Given the description of an element on the screen output the (x, y) to click on. 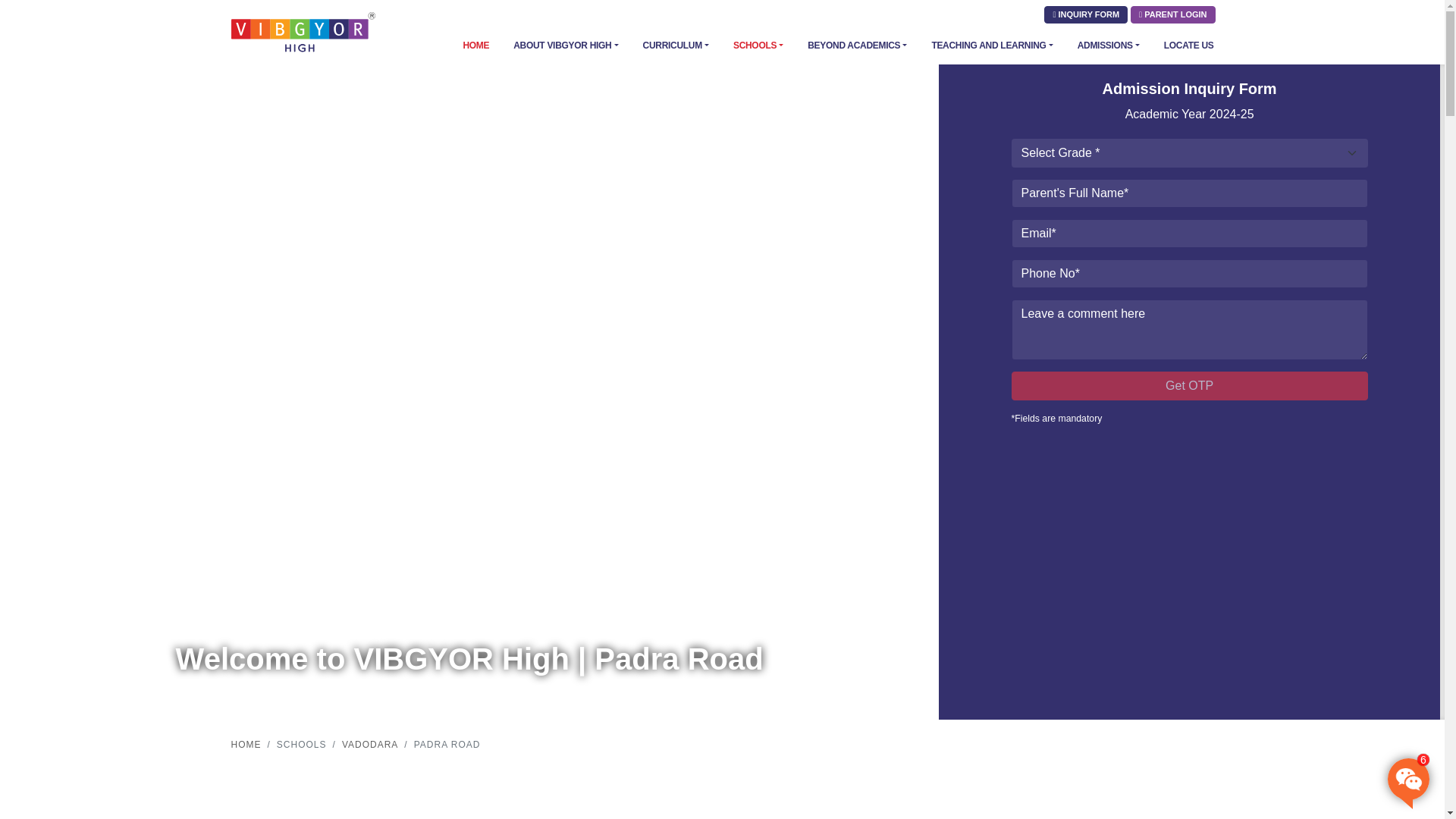
INQUIRY FORM (1084, 14)
CURRICULUM (663, 45)
PARENT LOGIN (1172, 14)
HOME (463, 45)
SCHOOLS (746, 45)
ABOUT VIBGYOR HIGH (553, 45)
